Given the description of an element on the screen output the (x, y) to click on. 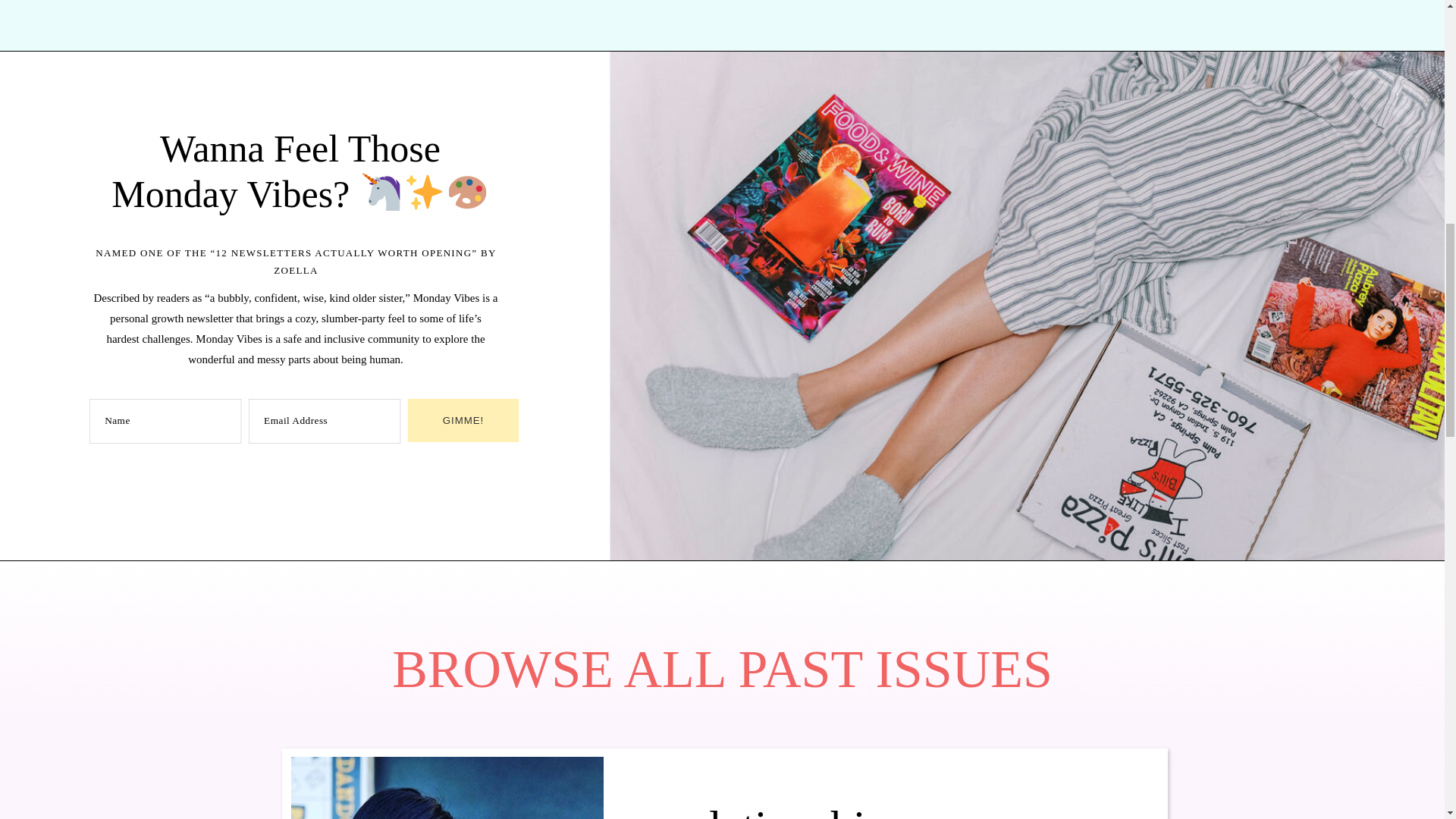
relationships (788, 810)
GIMME! (465, 421)
